Given the description of an element on the screen output the (x, y) to click on. 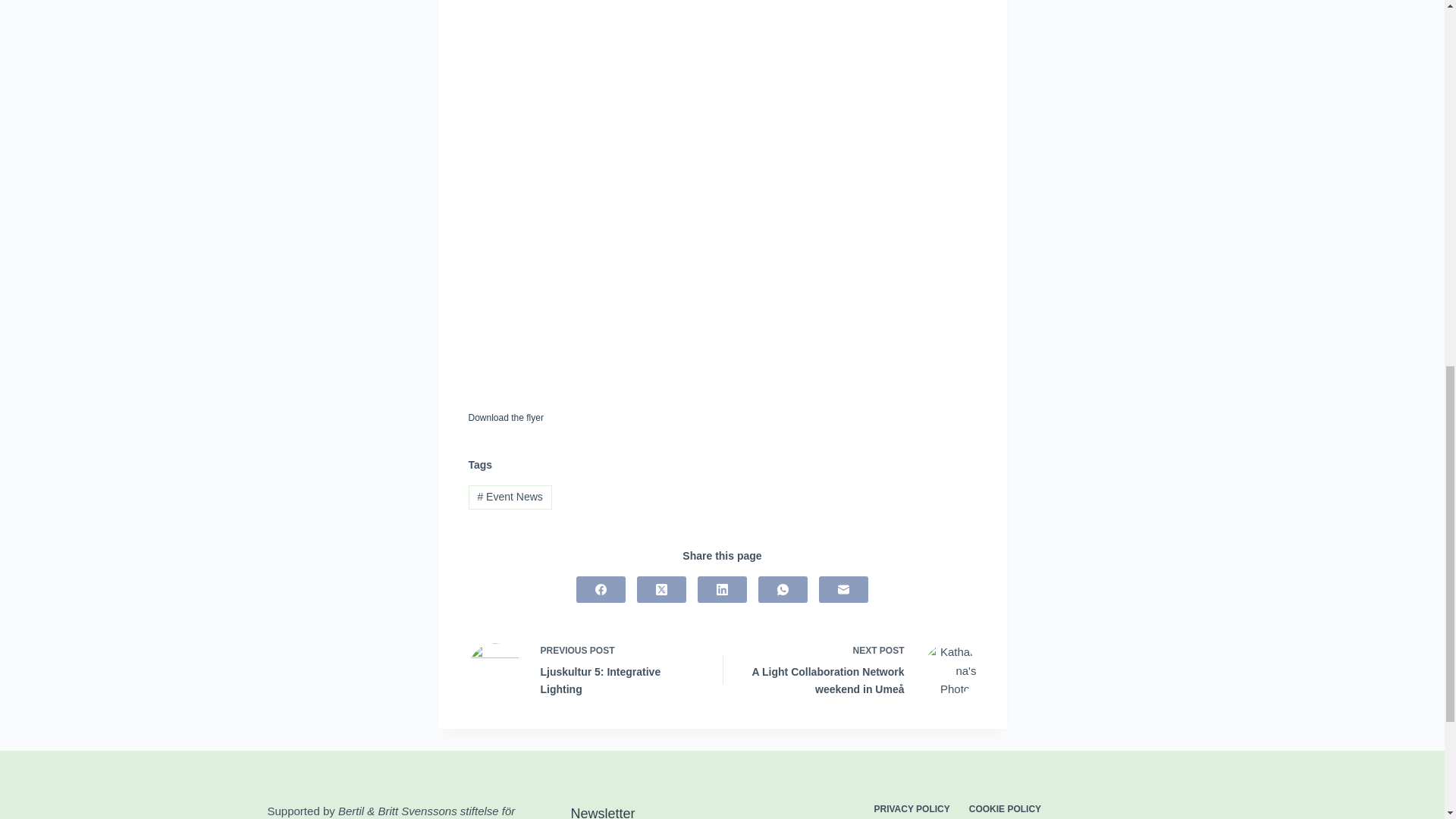
Download the flyer (505, 417)
PRIVACY POLICY (911, 809)
COOKIE POLICY (584, 669)
